Given the description of an element on the screen output the (x, y) to click on. 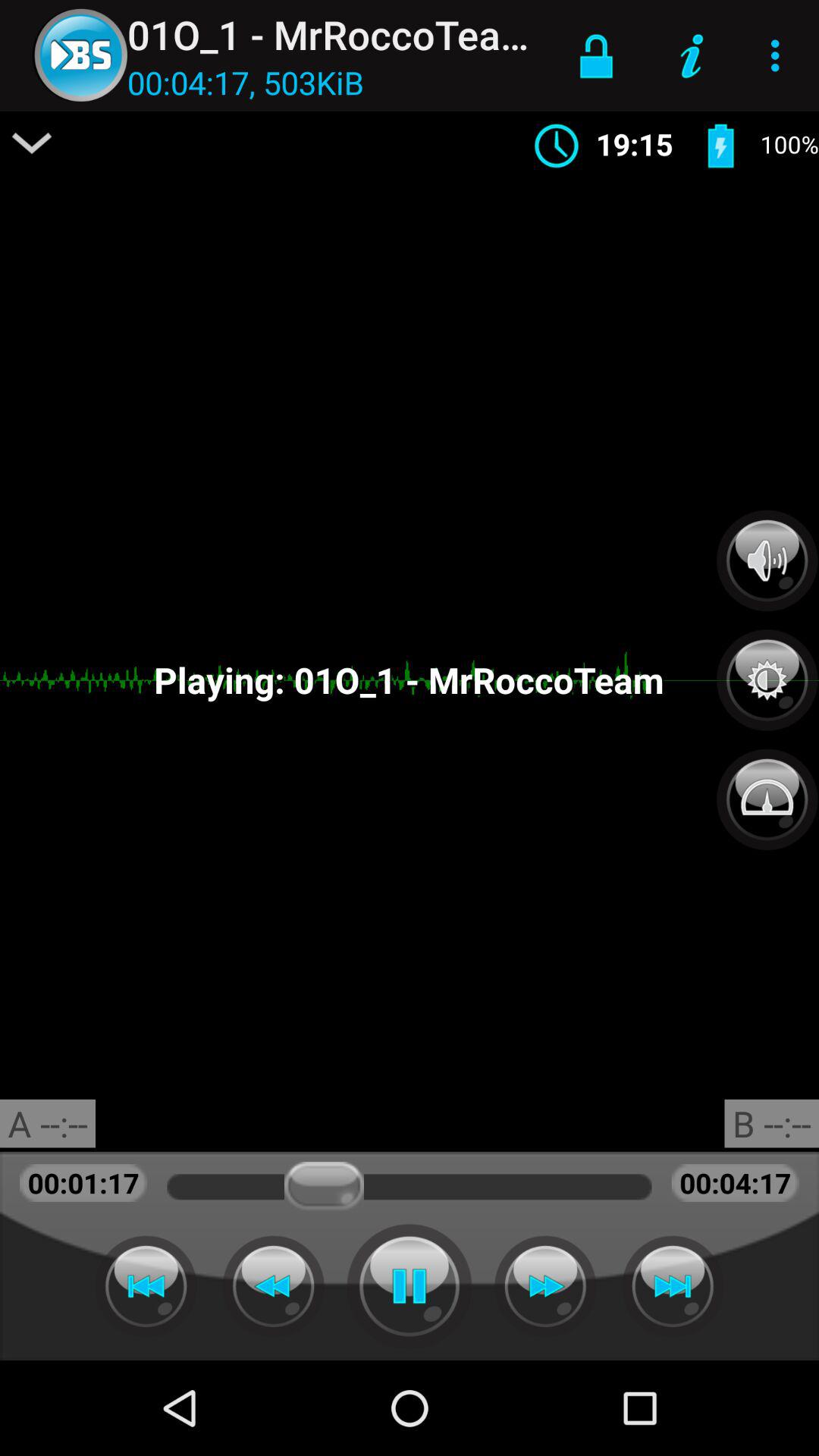
go fast forward (545, 1286)
